Given the description of an element on the screen output the (x, y) to click on. 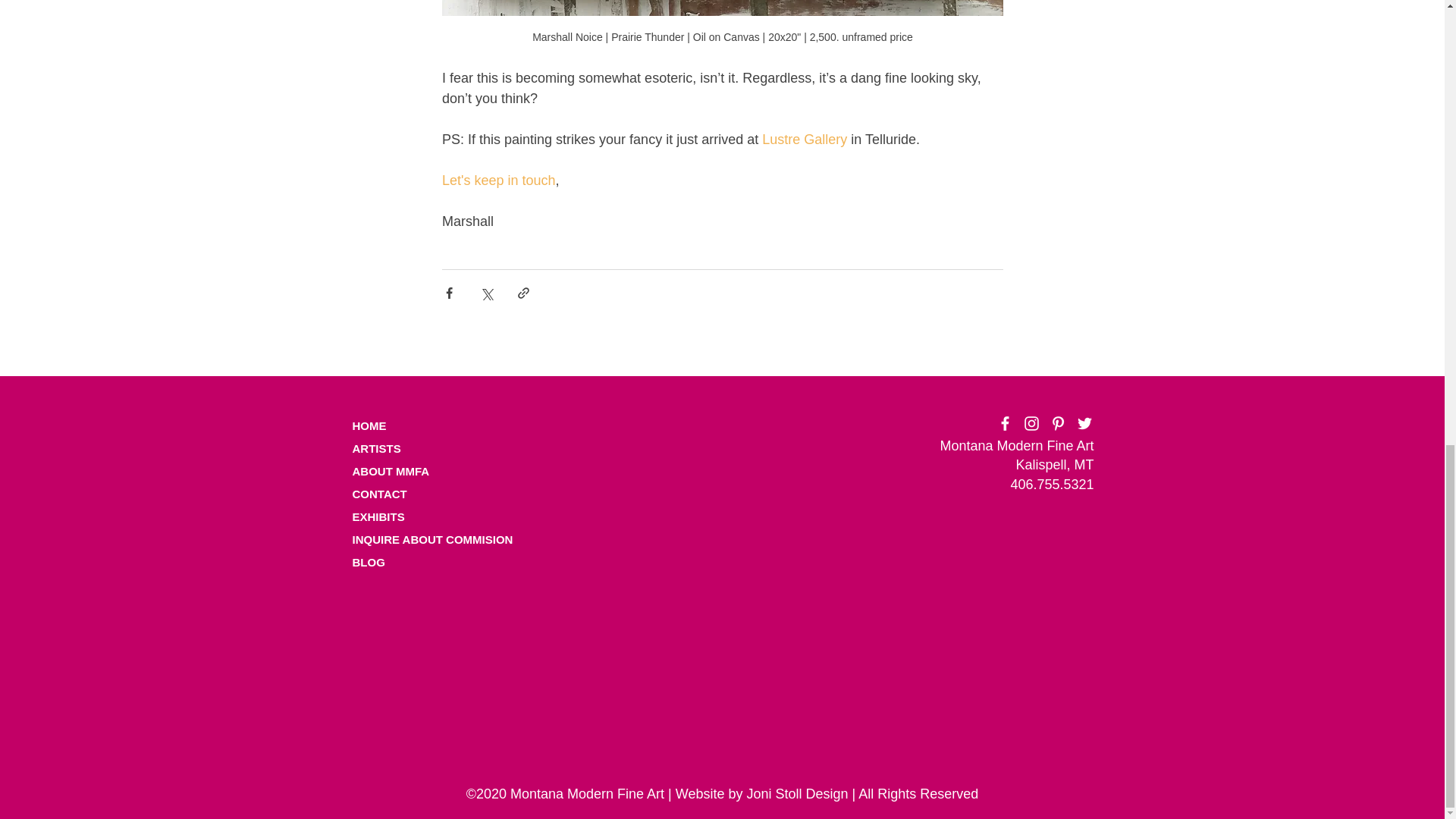
HOME (404, 425)
Joni Stoll Design (796, 793)
ARTISTS (404, 447)
ABOUT MMFA (404, 470)
EXHIBITS (378, 516)
CONTACT (404, 493)
Let's keep in touch (497, 179)
Lustre Gallery (804, 138)
INQUIRE ABOUT COMMISION (437, 538)
406.755.5321 (1051, 484)
